Given the description of an element on the screen output the (x, y) to click on. 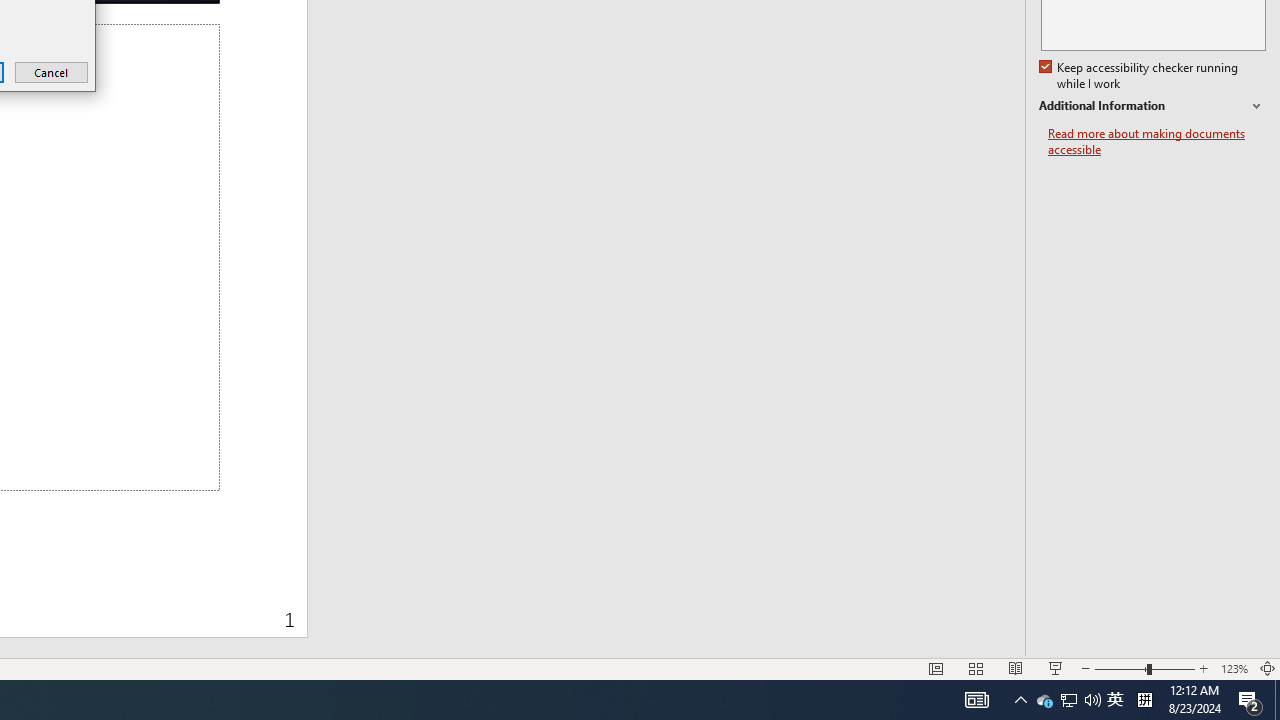
Cancel (51, 72)
